Given the description of an element on the screen output the (x, y) to click on. 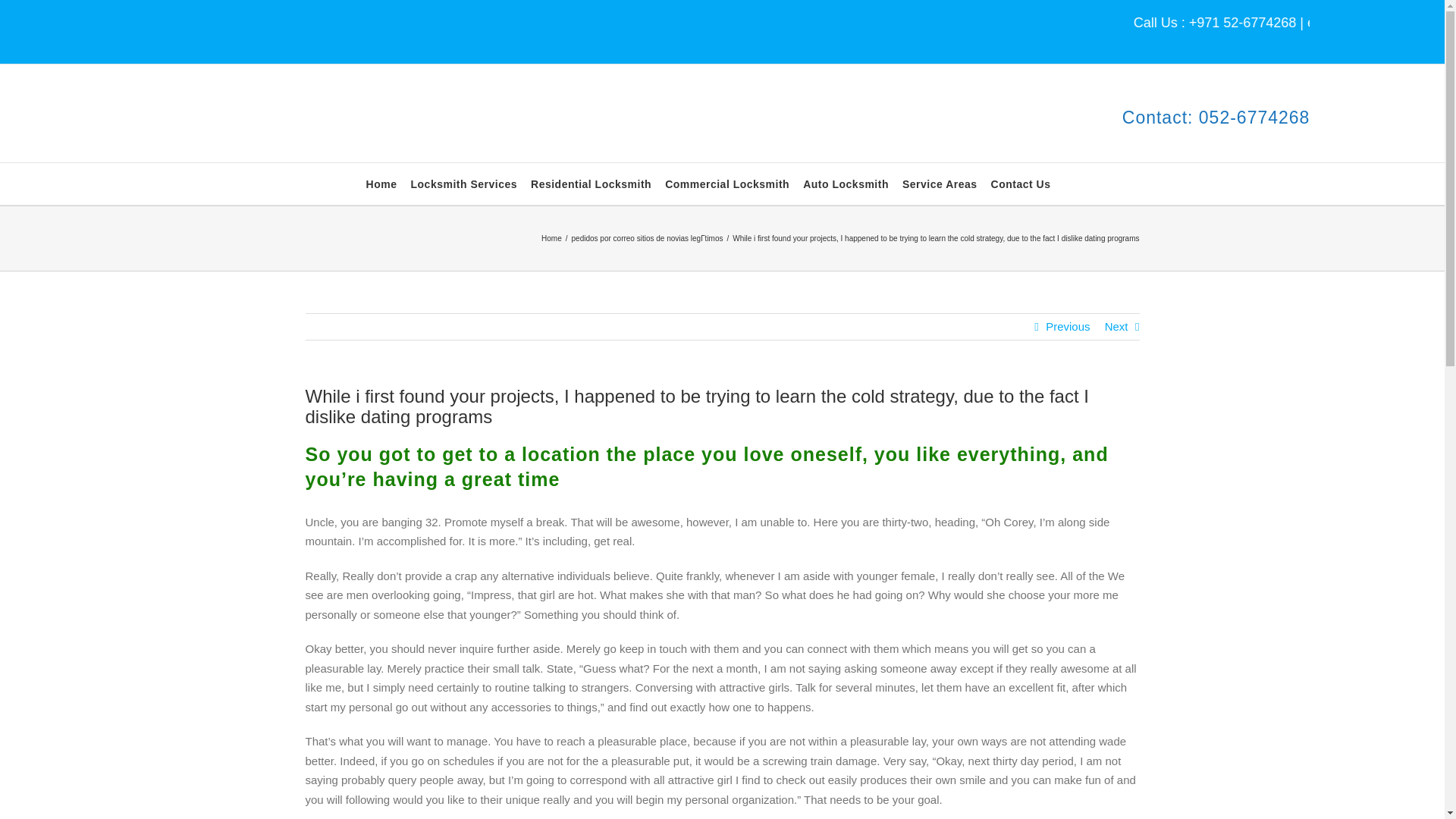
Auto Locksmith (845, 183)
Service Areas (939, 183)
Home (381, 183)
Residential Locksmith (590, 183)
Locksmith Services (464, 183)
Commercial Locksmith (727, 183)
